Given the description of an element on the screen output the (x, y) to click on. 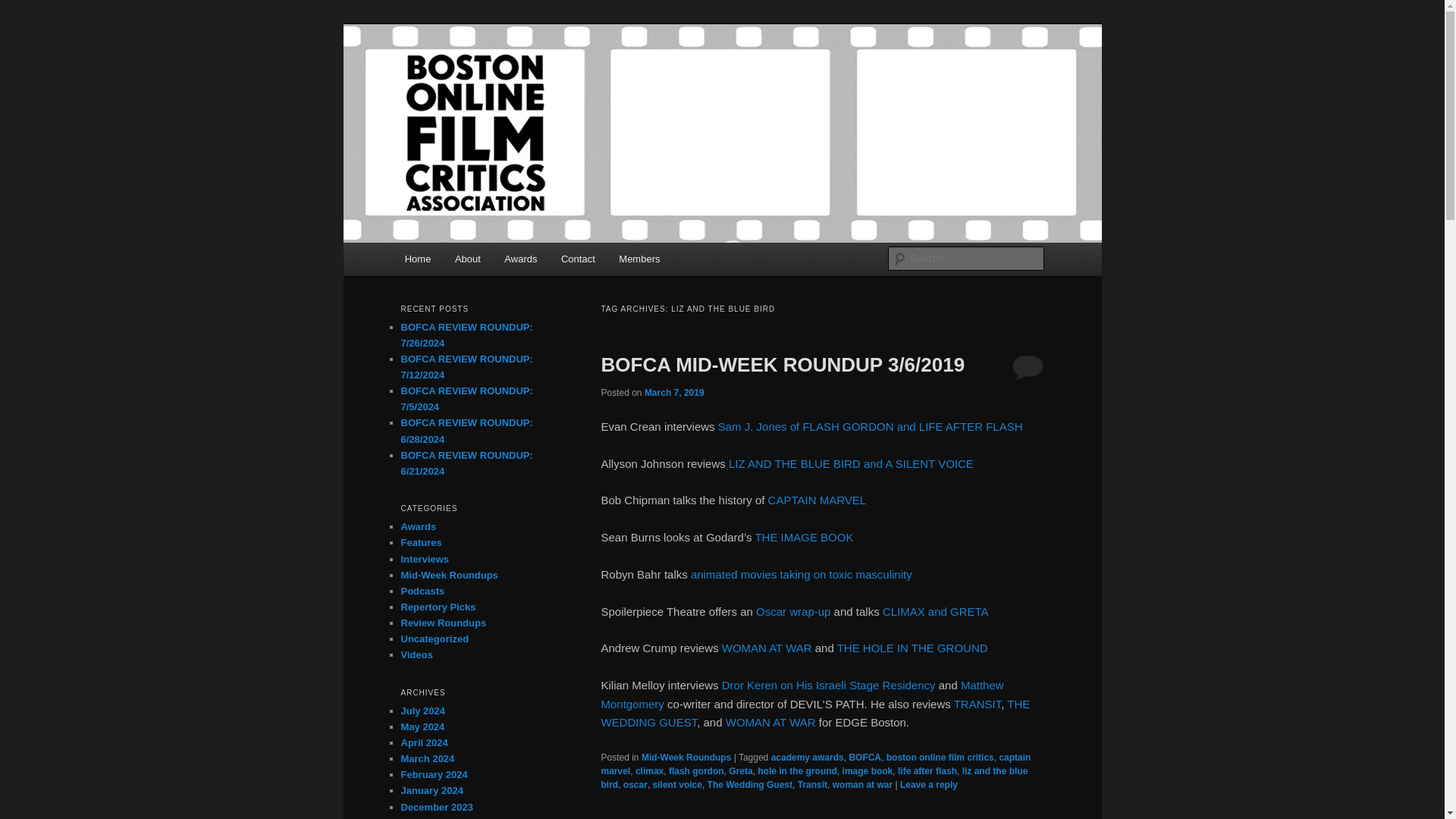
Awards (521, 258)
Kilian Melloy's review of The Wedding Guest (814, 712)
About (467, 258)
Search (24, 8)
10:09 am (674, 391)
Boston Online Film Critics Association (610, 78)
Kilian Melloy's review of Woman at War (770, 721)
Kilian Melloy's review of Transit (977, 703)
Home (417, 258)
Kilian Melloy's interview with Matthew Montgomery (801, 694)
Kilian Melloy's interview with Dror Keren (829, 684)
